Given the description of an element on the screen output the (x, y) to click on. 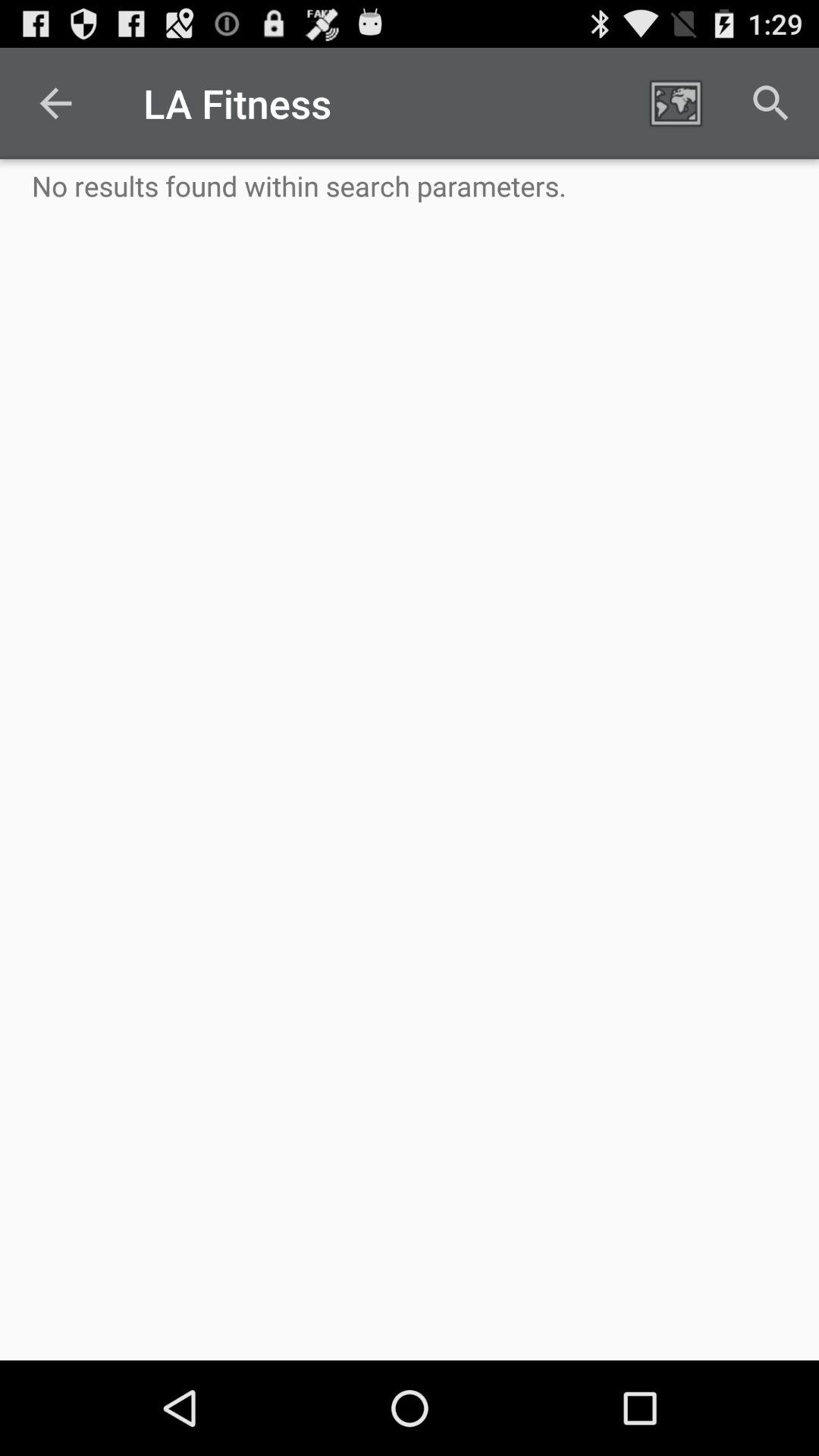
open the icon above no results found (55, 103)
